Given the description of an element on the screen output the (x, y) to click on. 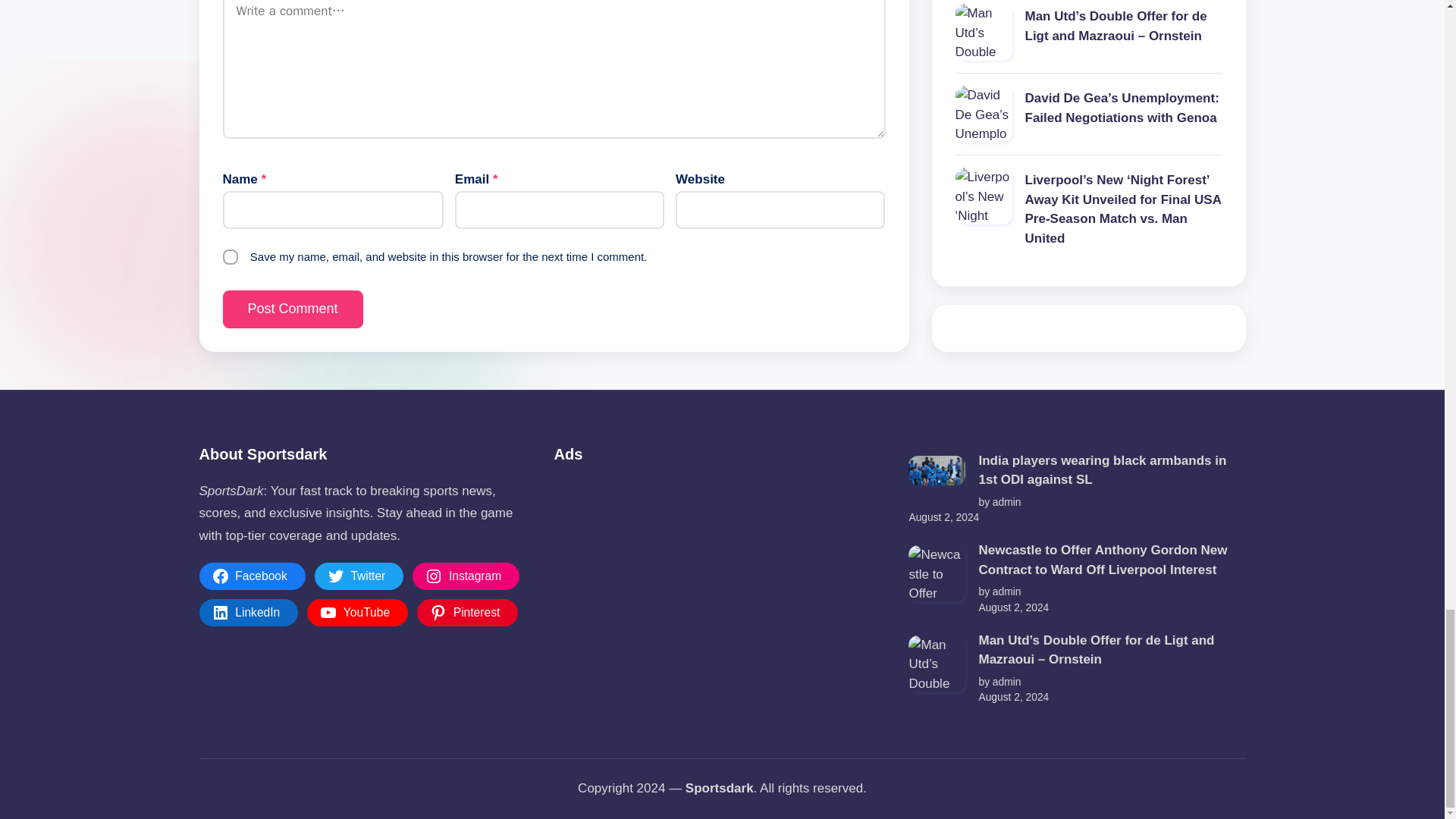
yes (230, 256)
India players wearing black armbands in 1st ODI against SL (936, 470)
Instagram (465, 575)
Twitter (359, 575)
Facebook (251, 575)
Post Comment (292, 309)
Post Comment (292, 309)
